Given the description of an element on the screen output the (x, y) to click on. 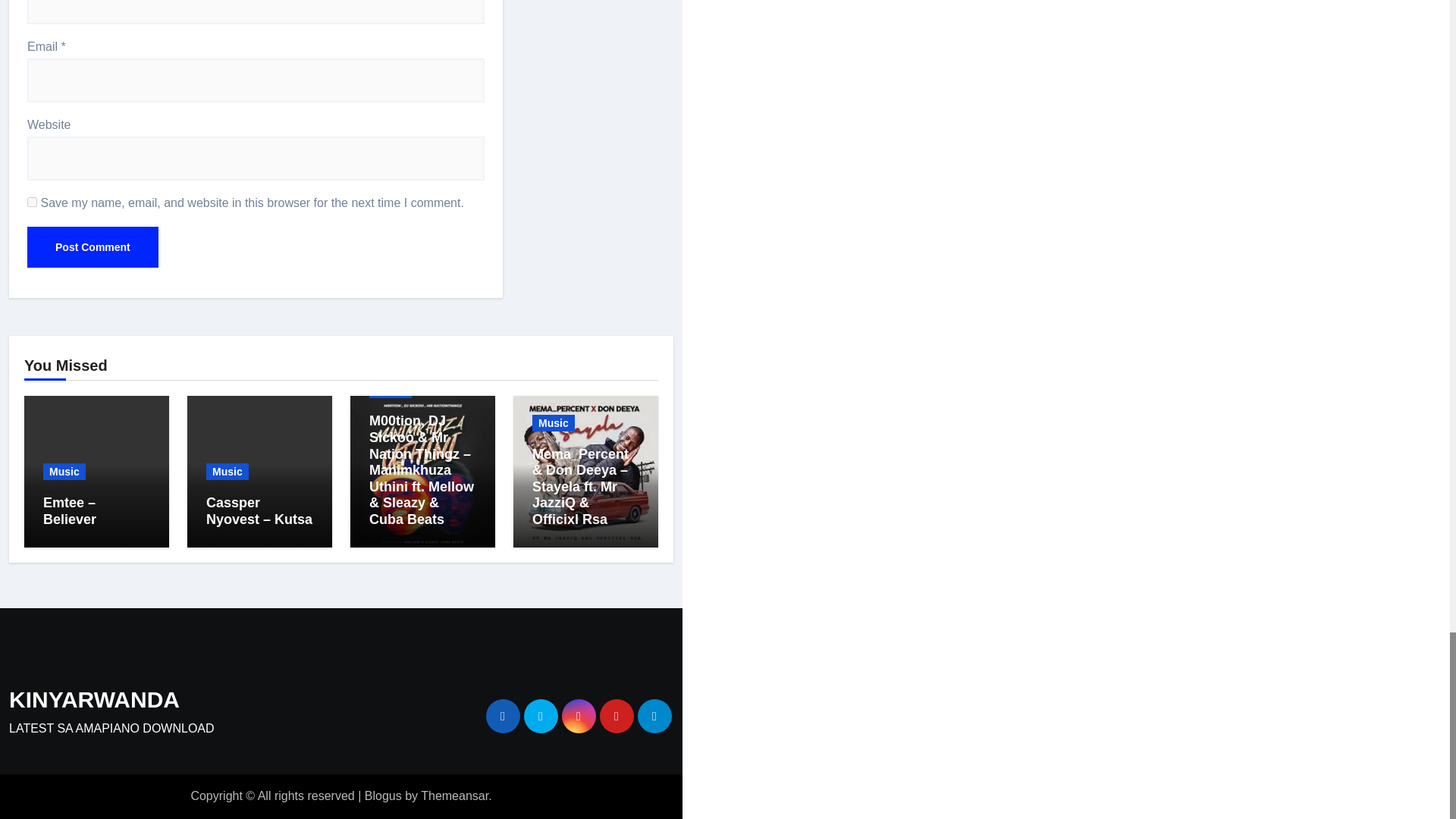
yes (32, 202)
Post Comment (92, 246)
